Given the description of an element on the screen output the (x, y) to click on. 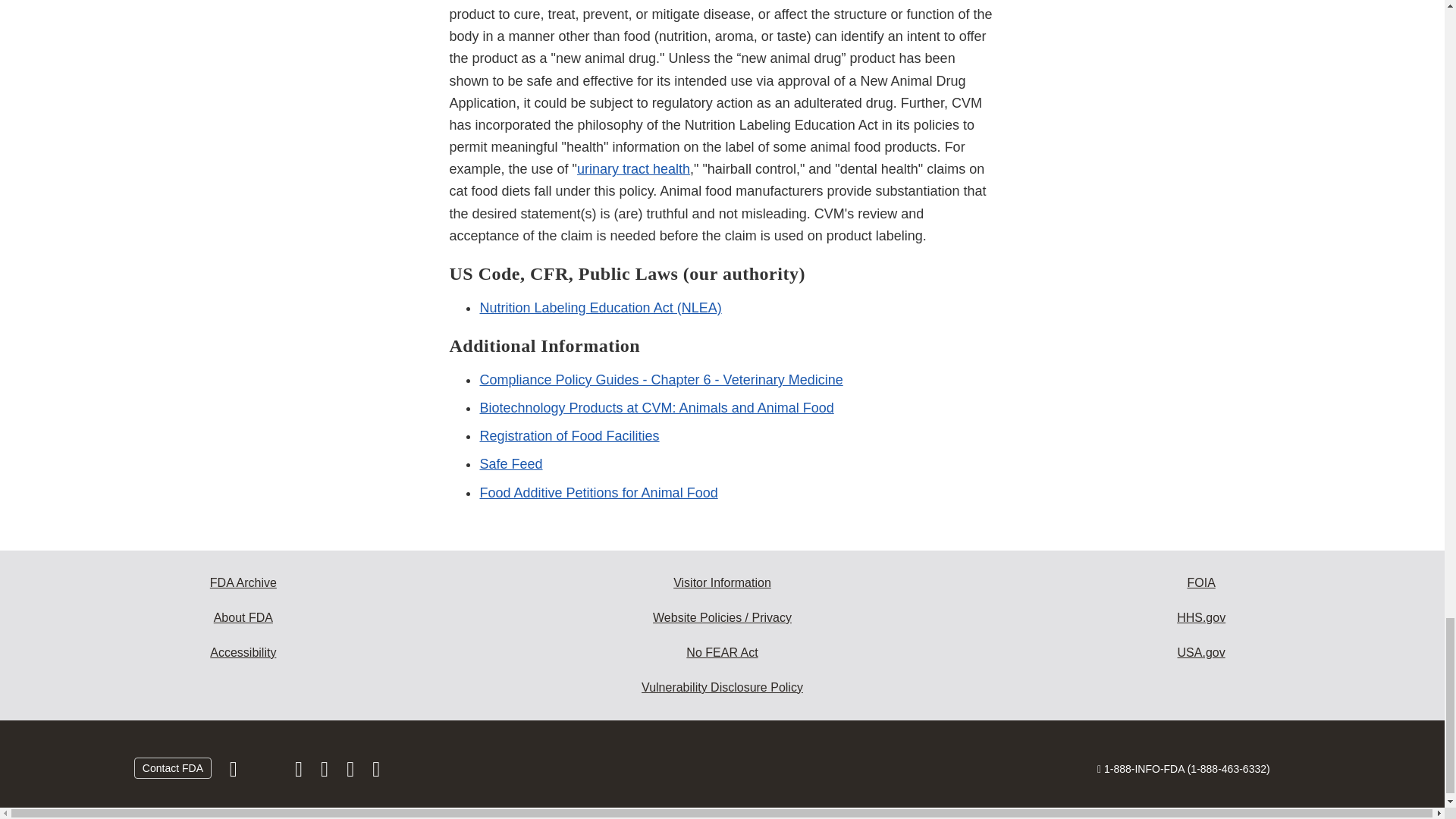
Follow FDA on LinkedIn (326, 772)
Follow FDA on Instagram (299, 772)
View FDA videos on YouTube (352, 772)
Follow FDA on Facebook (234, 772)
Follow FDA on X (266, 772)
Freedom of Information Act (1200, 582)
Subscribe to FDA RSS feeds (376, 772)
Biotechnology Products at CVM: Animals and Animal Food (655, 407)
Health and Human Services (1200, 617)
